Given the description of an element on the screen output the (x, y) to click on. 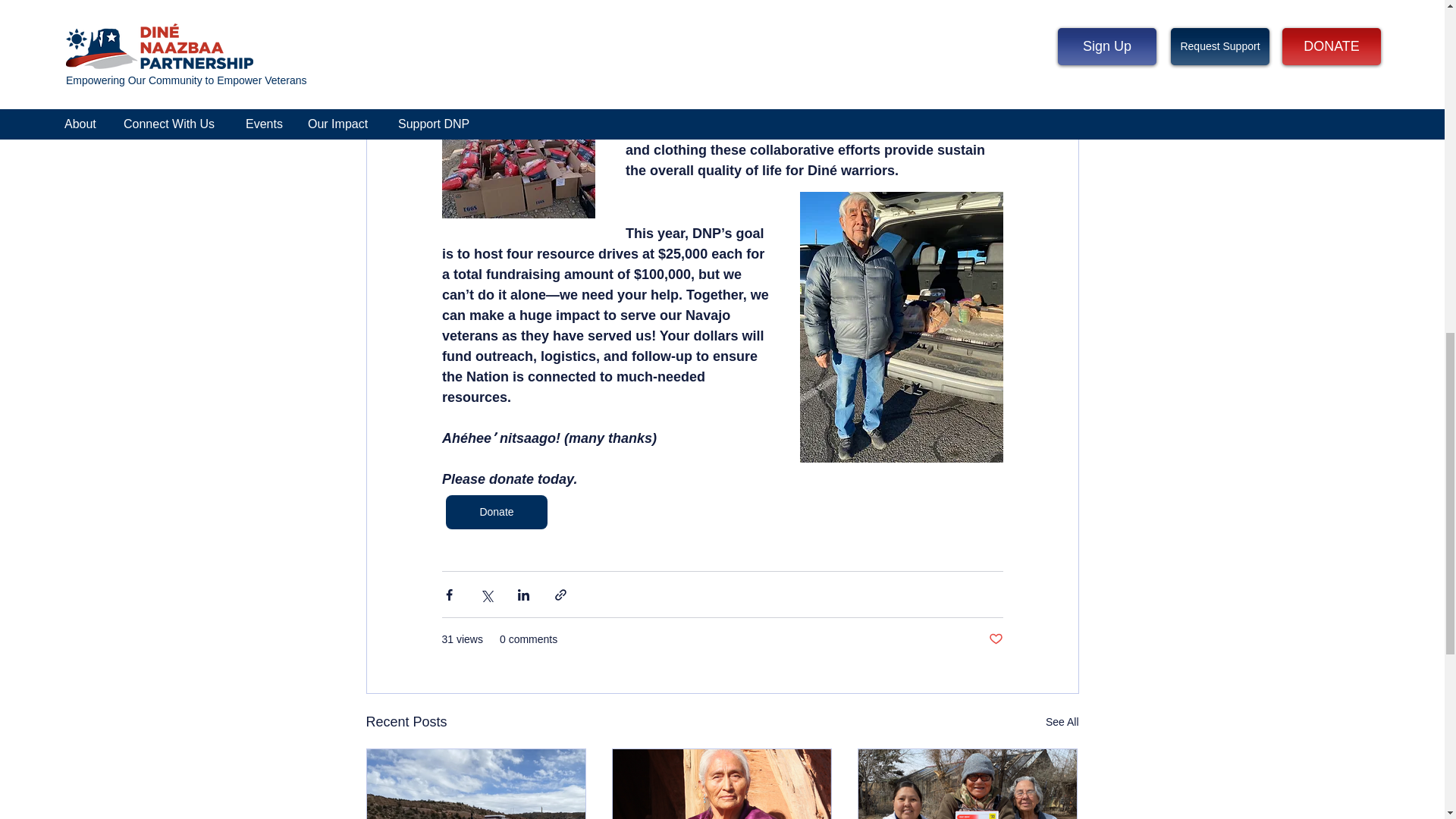
Post not marked as liked (995, 639)
See All (1061, 722)
Donate (496, 512)
